Given the description of an element on the screen output the (x, y) to click on. 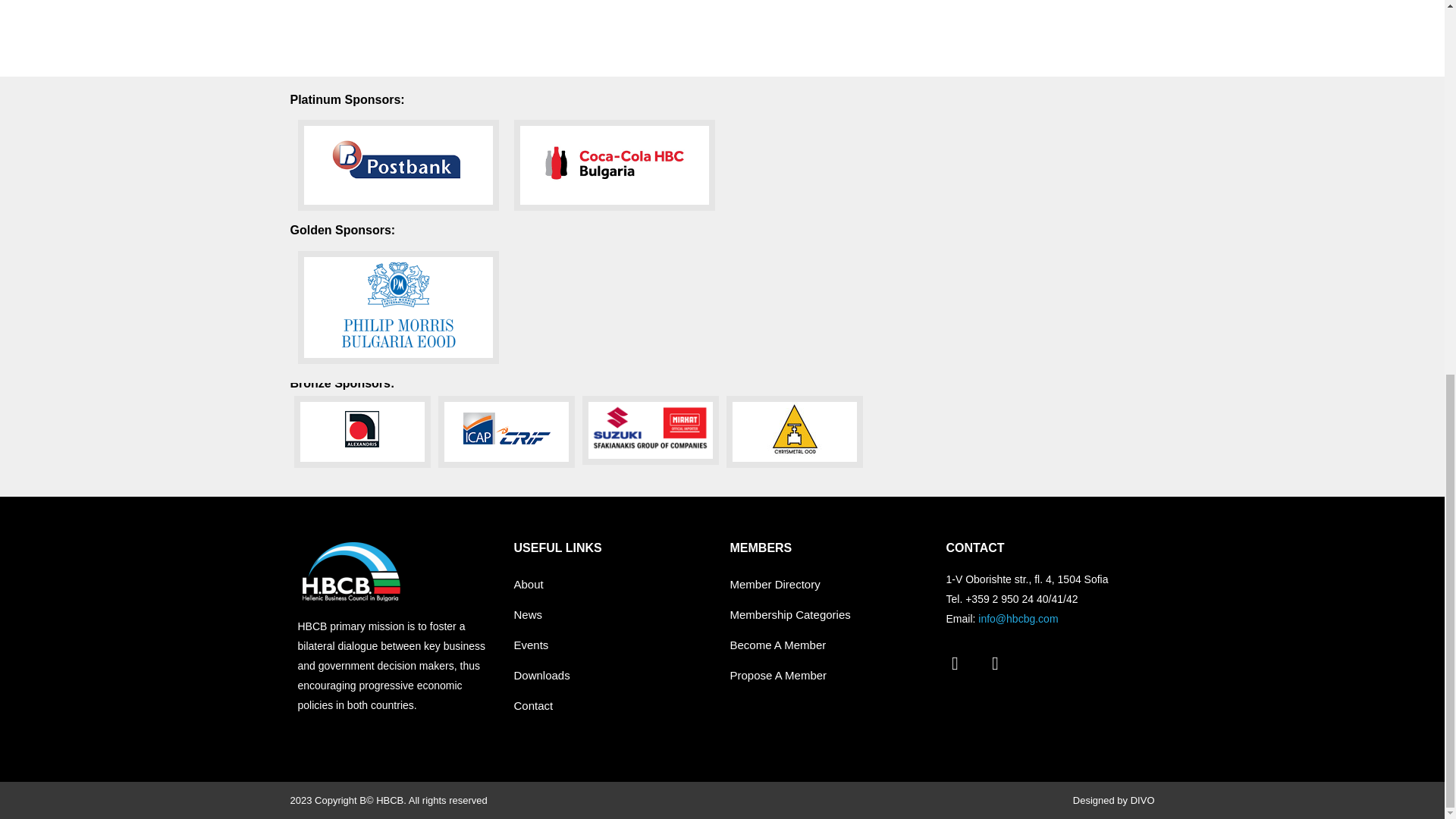
SUZUKI (650, 430)
CHRYSMETAL (794, 431)
Coca Cola HBC (613, 164)
Philip Morris Bulgaria (397, 306)
CRIF (506, 431)
Postbank (397, 164)
hbcb-logo-w (350, 571)
Alexandris (362, 431)
